Given the description of an element on the screen output the (x, y) to click on. 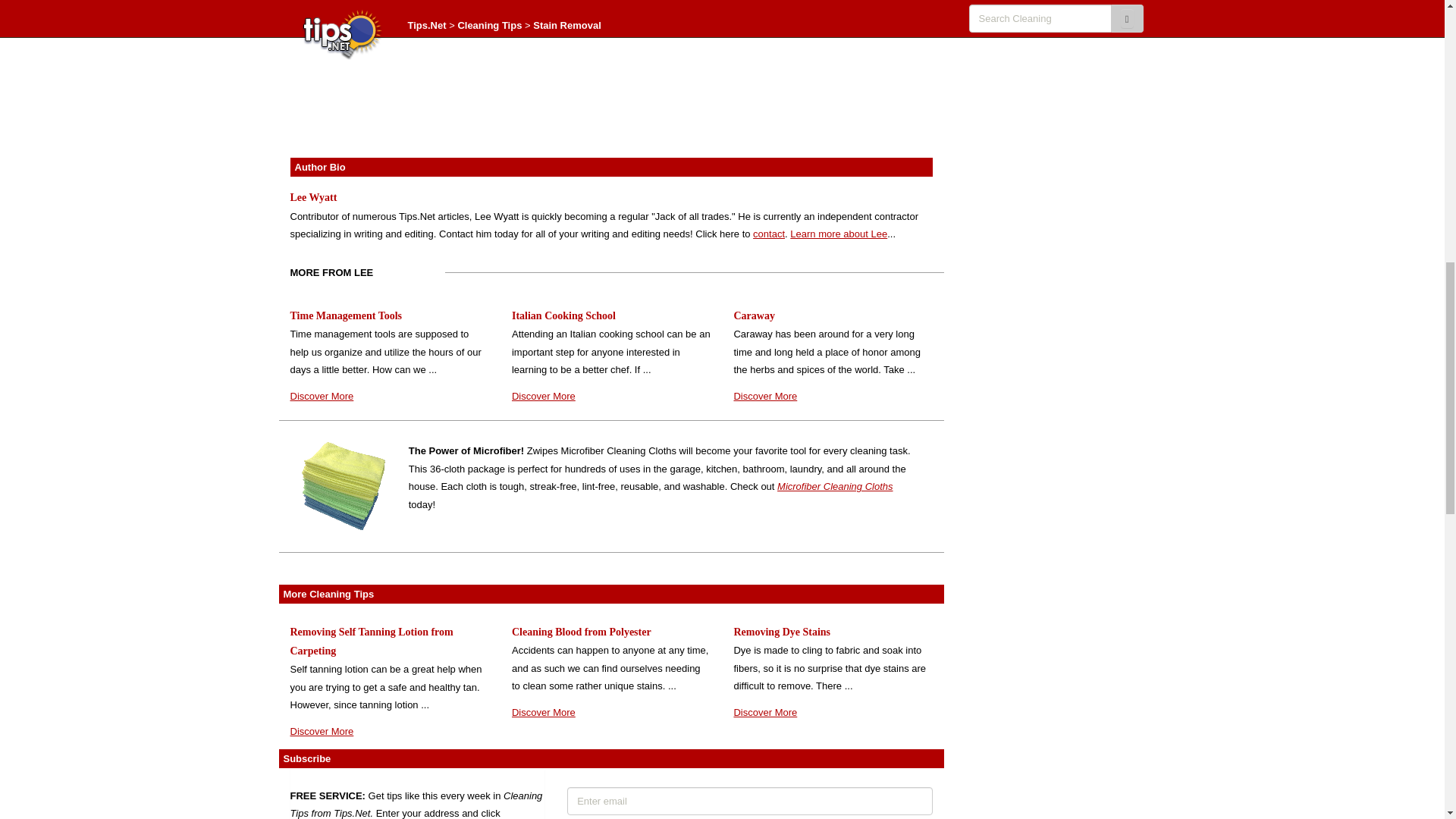
Discover More (764, 396)
Microfiber Cleaning Cloths (834, 486)
Discover More (764, 712)
contact (768, 233)
Advertisement (611, 73)
Discover More (321, 396)
Learn more about Lee (838, 233)
Discover More (543, 712)
Discover More (543, 396)
Discover More (321, 731)
